Given the description of an element on the screen output the (x, y) to click on. 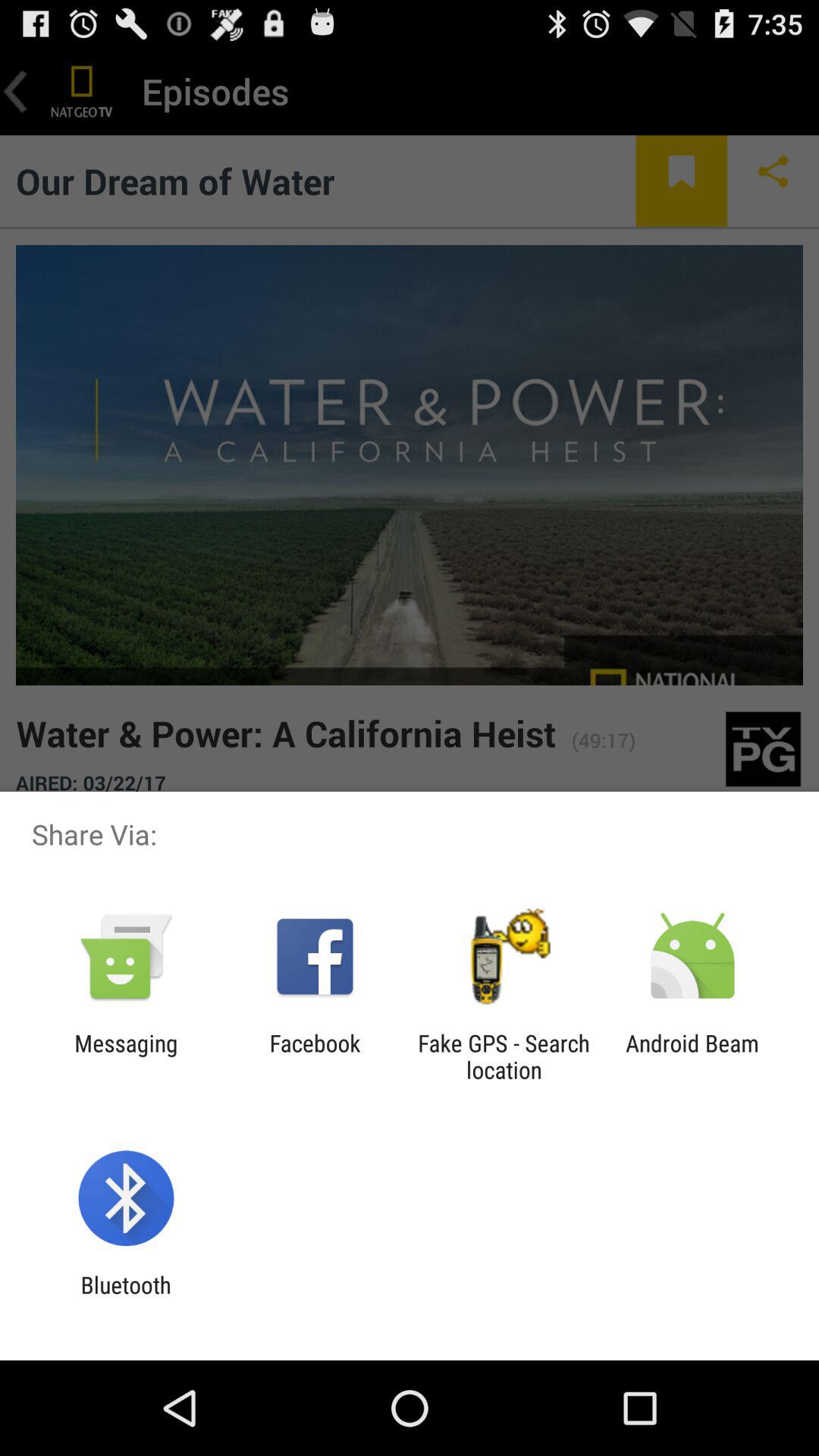
tap the icon to the left of the android beam item (503, 1056)
